Given the description of an element on the screen output the (x, y) to click on. 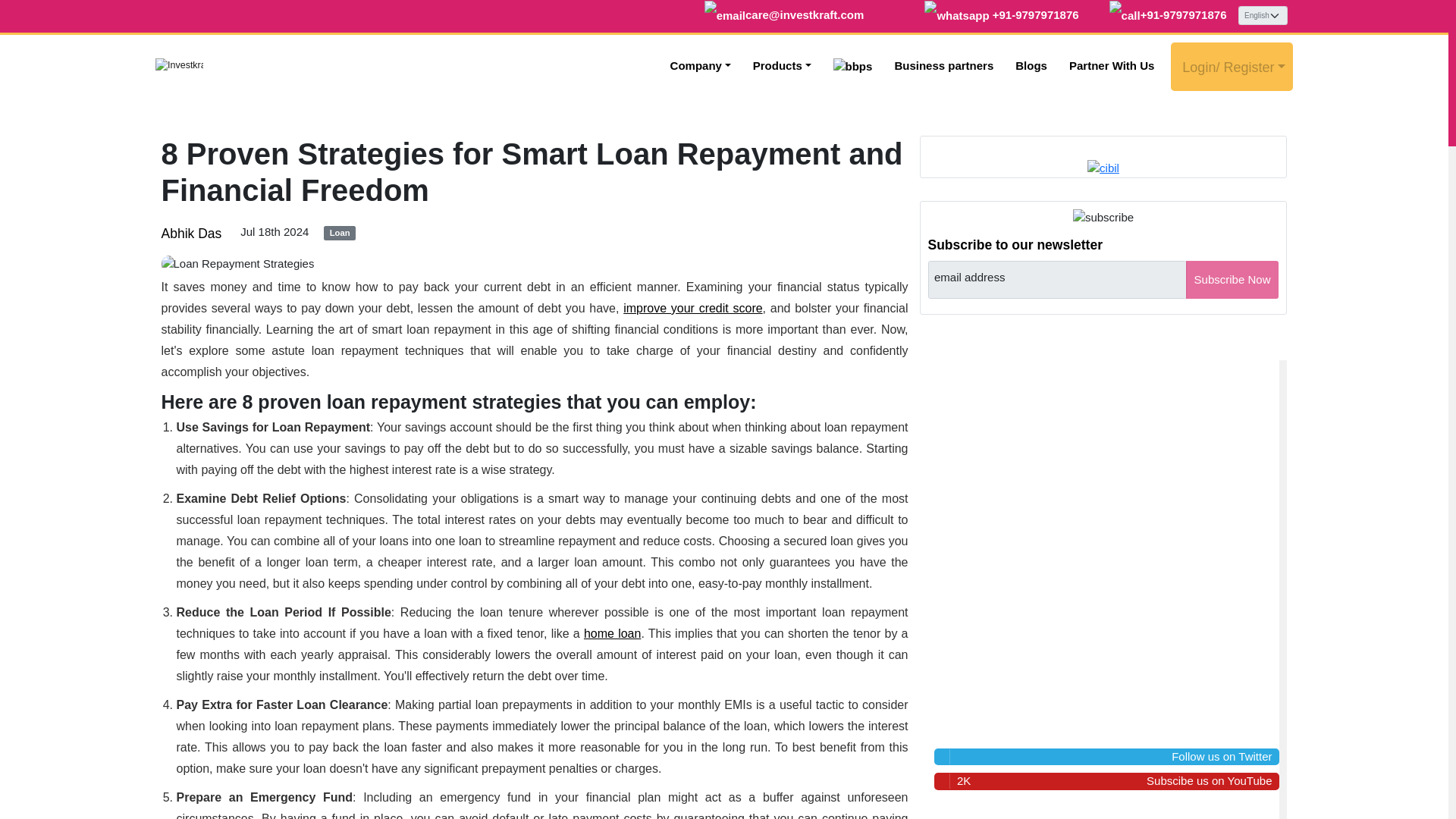
Partner With Us (1111, 66)
Abhik Das (190, 233)
Company (700, 66)
Products (782, 66)
Business partners (943, 66)
